Given the description of an element on the screen output the (x, y) to click on. 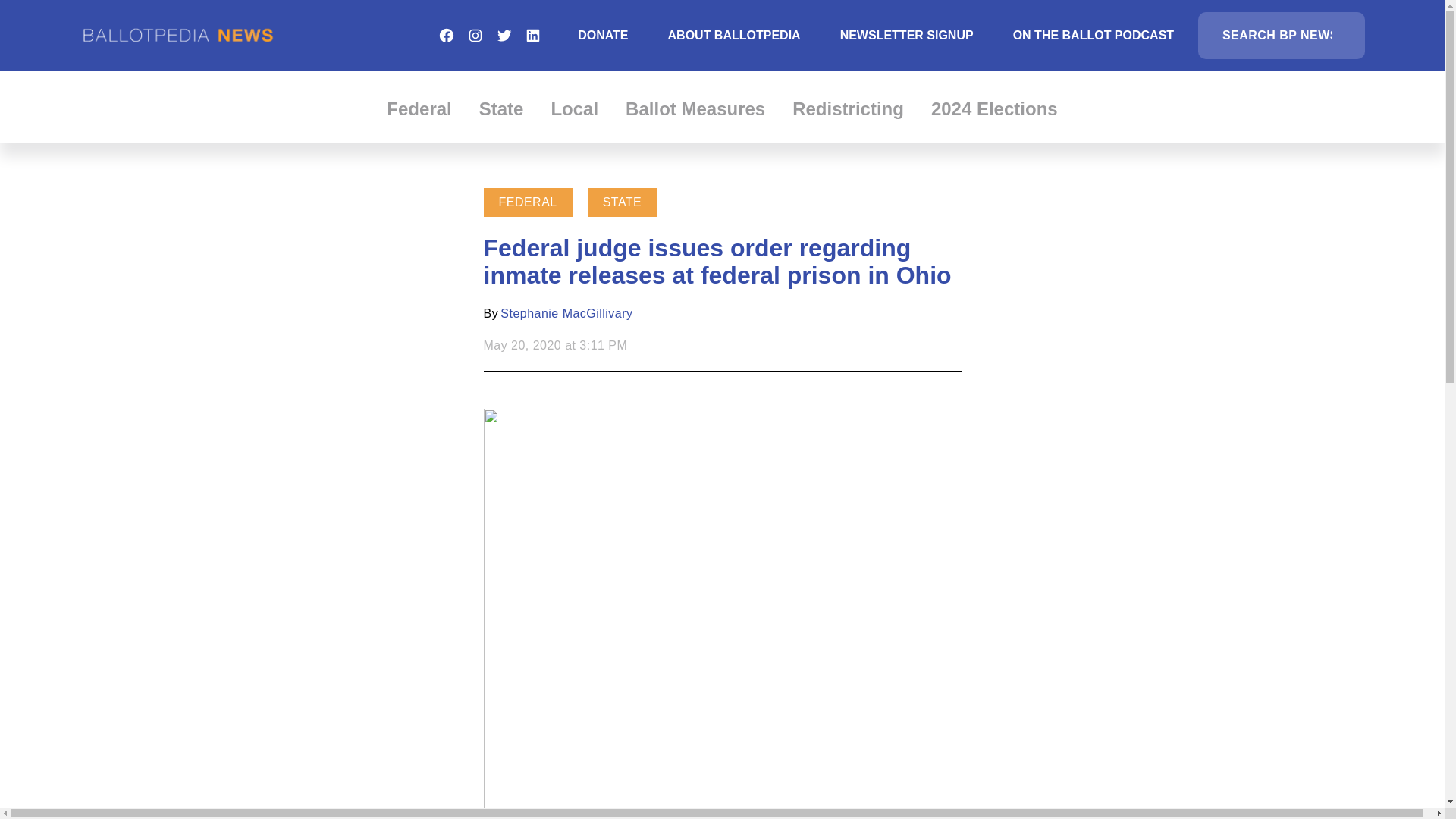
ABOUT BALLOTPEDIA (734, 35)
NEWSLETTER SIGNUP (906, 35)
Federal (419, 108)
LinkedIn (532, 35)
Instagram (475, 35)
Stephanie MacGillivary (565, 313)
Twitter (504, 35)
Ballot Measures (695, 108)
ON THE BALLOT PODCAST (1093, 35)
Redistricting (848, 108)
